Given the description of an element on the screen output the (x, y) to click on. 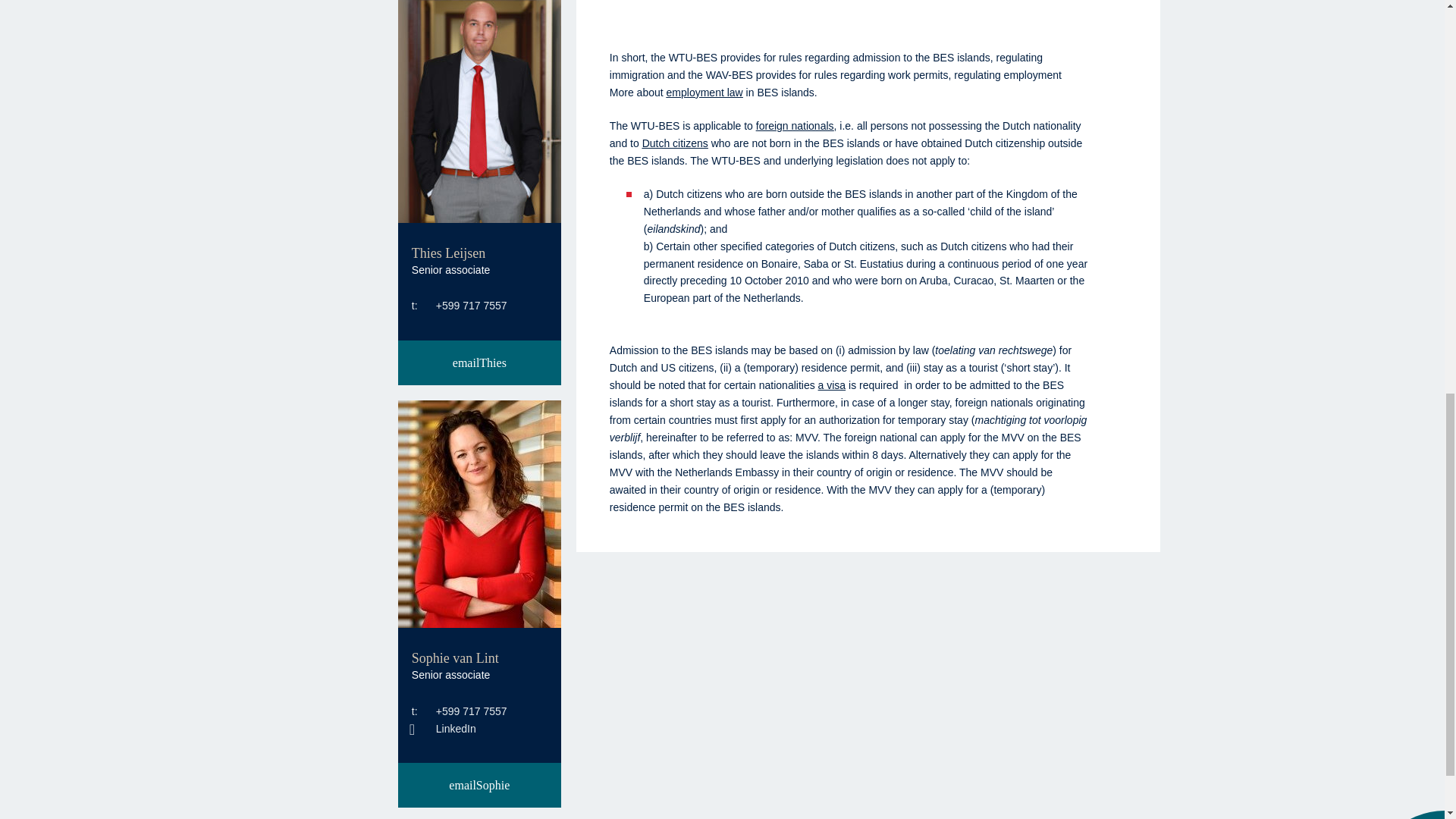
LinkedIn (444, 728)
emailThies (478, 362)
foreign nationals (794, 125)
employment law (704, 92)
a visa (831, 385)
Dutch citizens (674, 143)
emailSophie (478, 784)
